Given the description of an element on the screen output the (x, y) to click on. 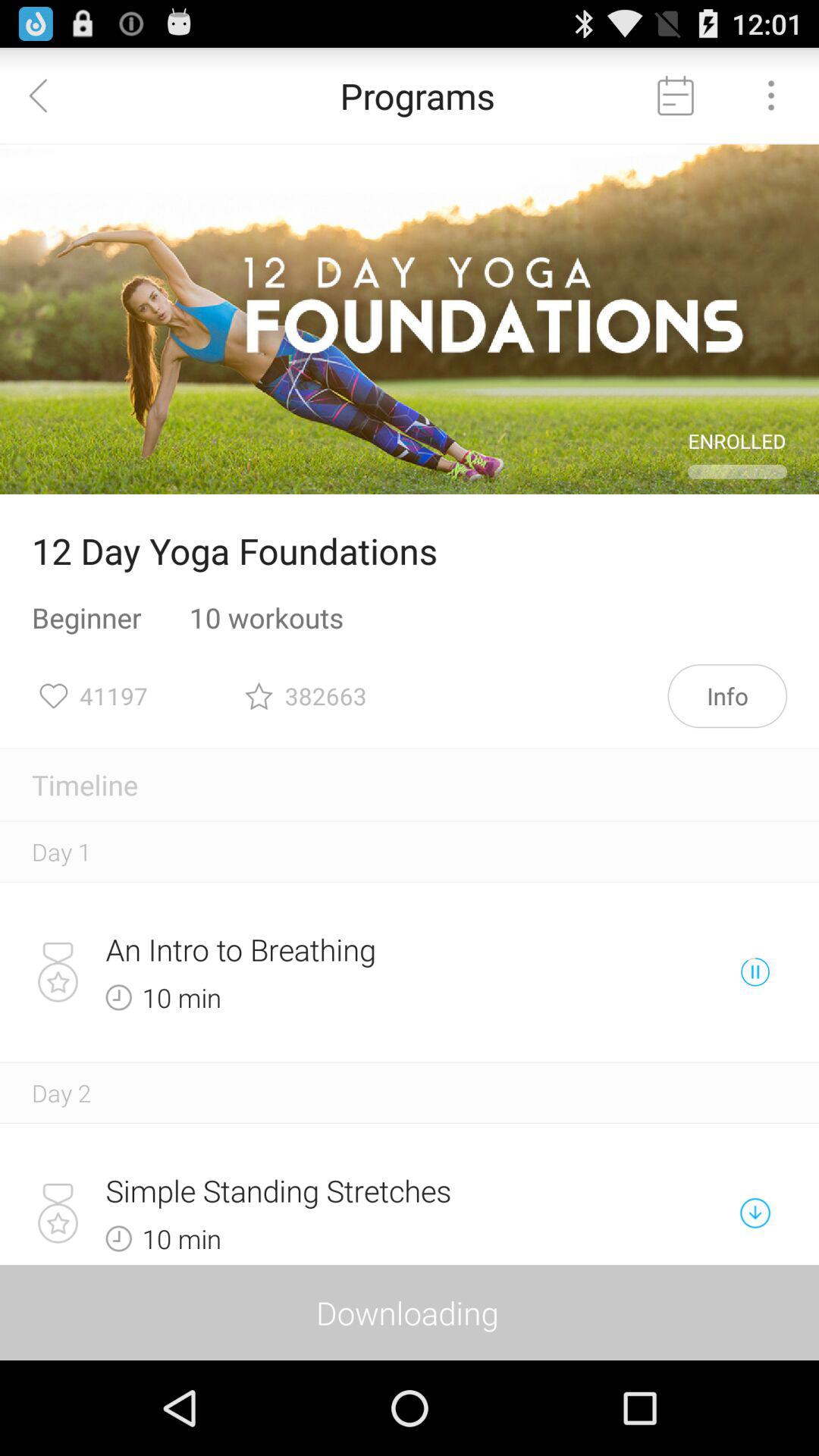
select the icon above 12 day yoga (409, 319)
